Given the description of an element on the screen output the (x, y) to click on. 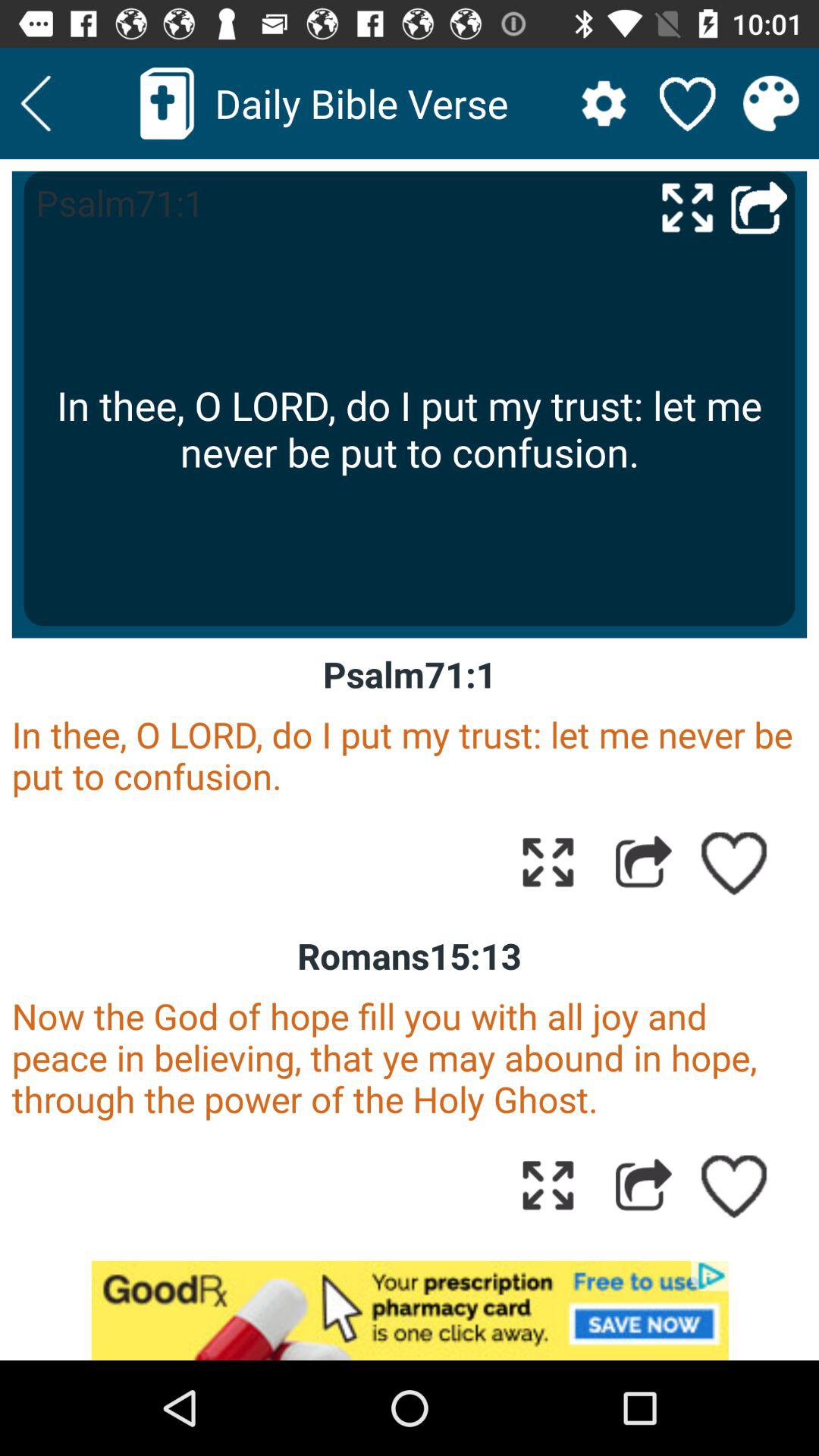
settings button (603, 103)
